Given the description of an element on the screen output the (x, y) to click on. 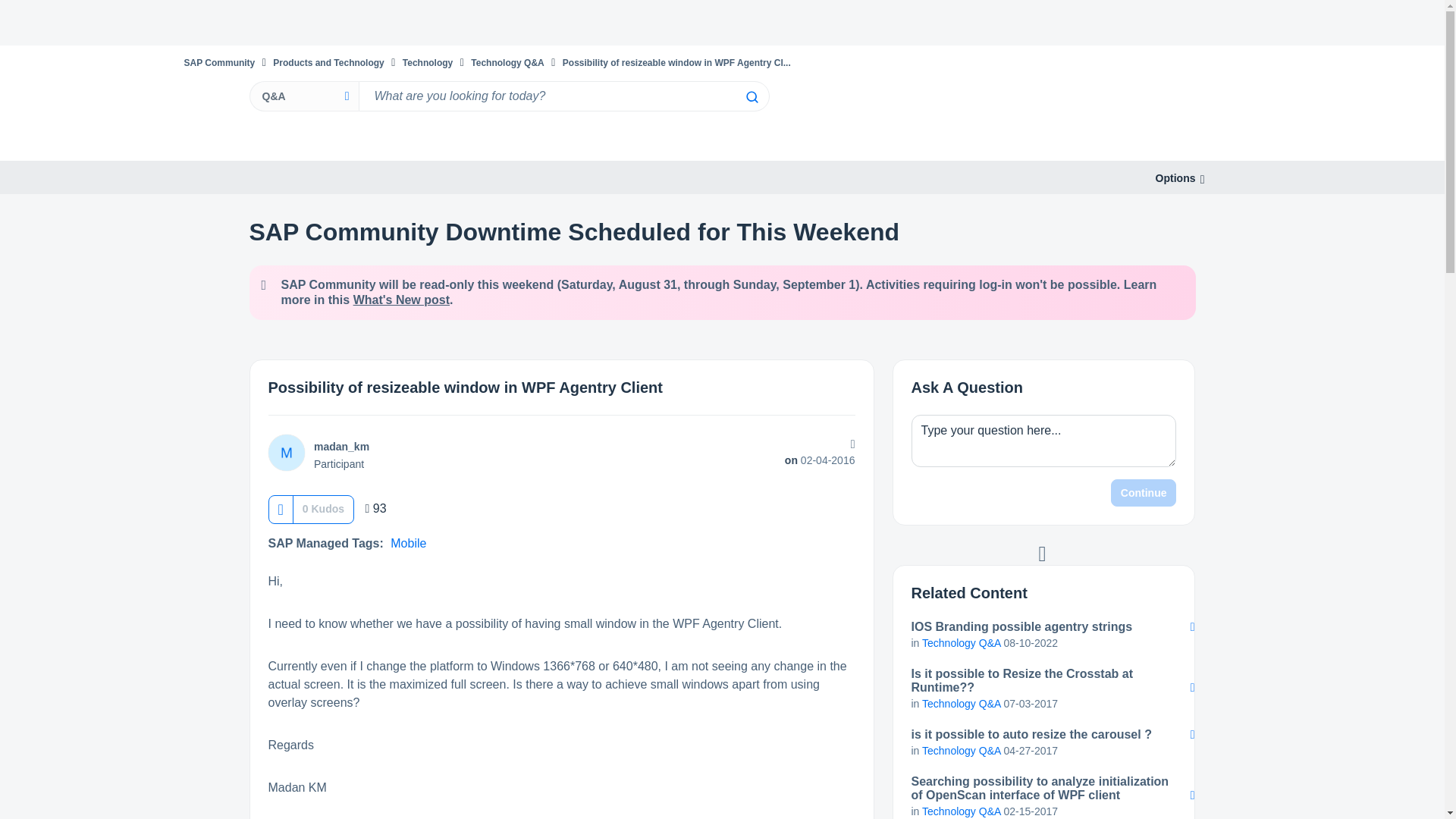
Mobile (408, 543)
Show option menu (1176, 178)
Click here to give kudos to this post. (279, 509)
Search Granularity (303, 96)
SAP Community (218, 62)
Continue (1143, 492)
Search (750, 96)
Products and Technology (328, 62)
Technology (427, 62)
Search (563, 96)
